Given the description of an element on the screen output the (x, y) to click on. 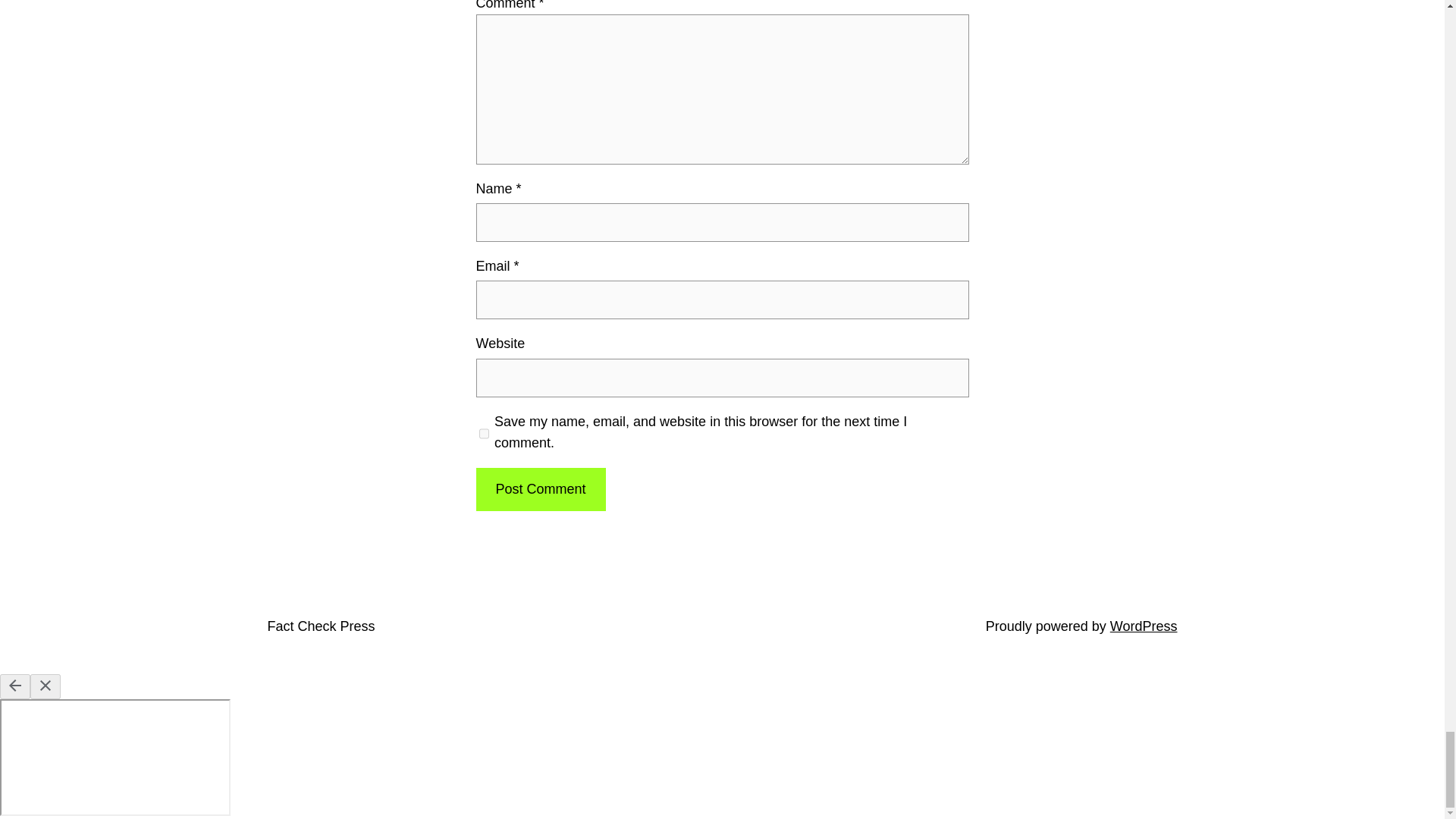
Post Comment (540, 489)
Fact Check Press (320, 626)
Post Comment (540, 489)
WordPress (1143, 626)
